Given the description of an element on the screen output the (x, y) to click on. 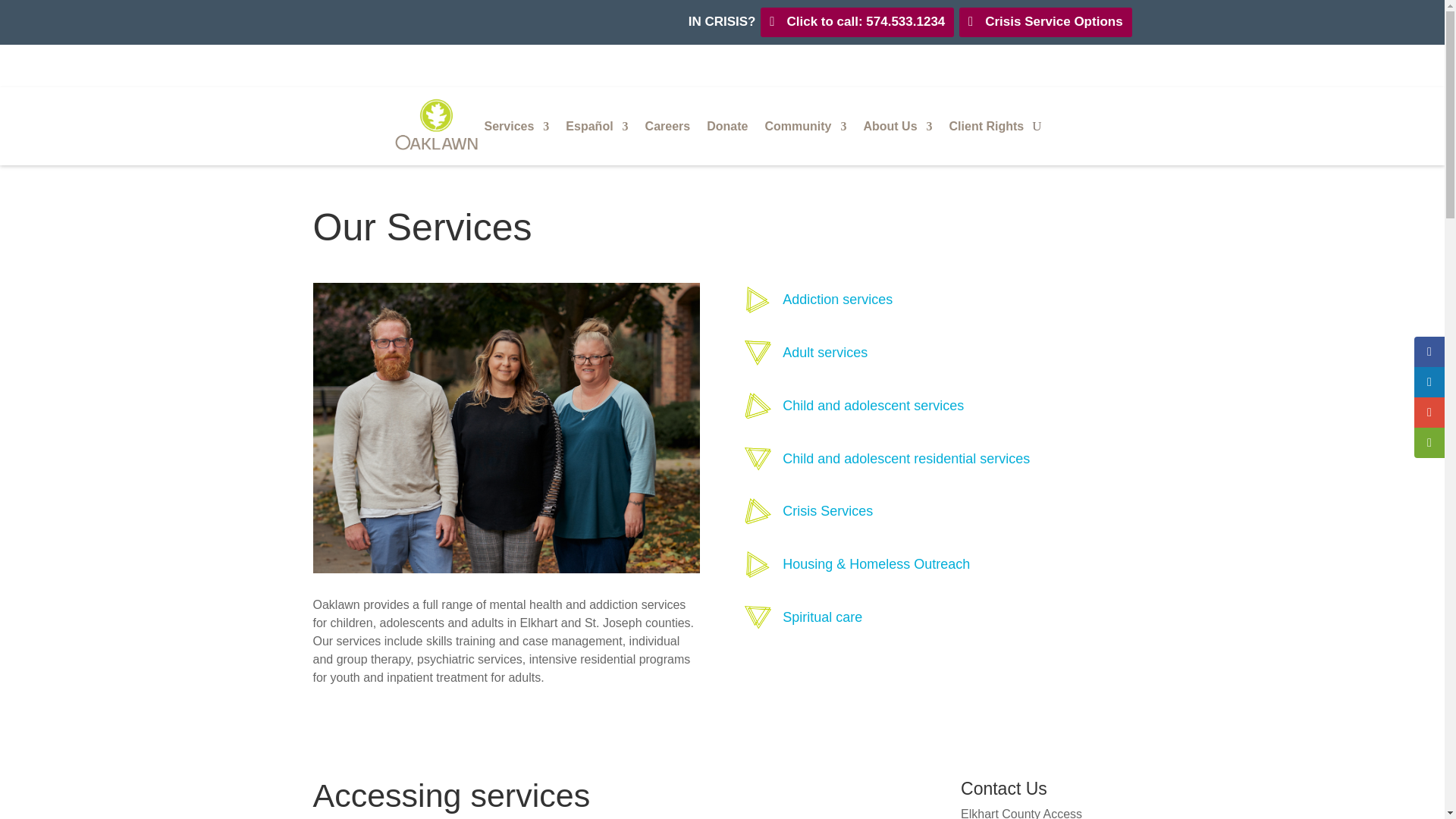
Click to call: 574.533.1234 (856, 21)
About Us (897, 126)
Crisis Service Options (1045, 21)
Services (505, 427)
Services (517, 126)
Community (804, 126)
